Given the description of an element on the screen output the (x, y) to click on. 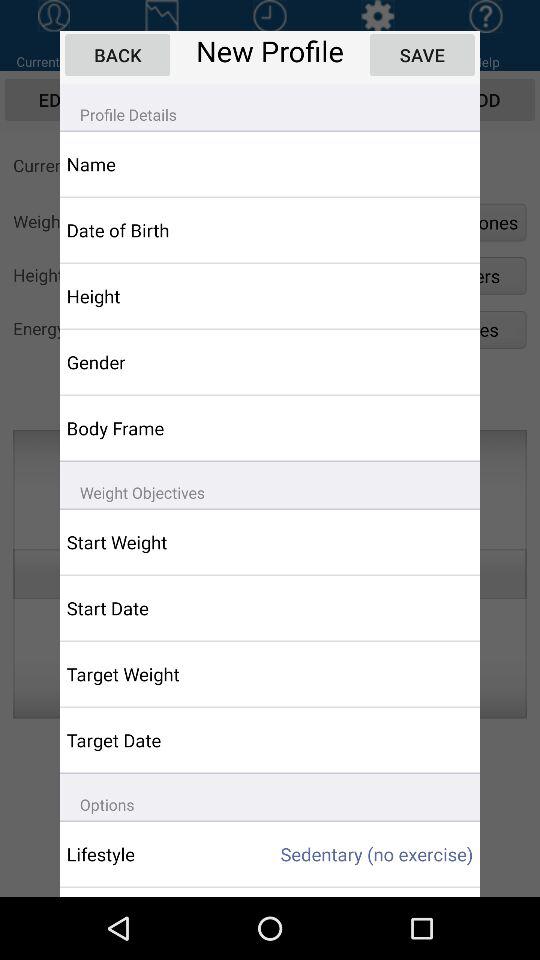
turn off icon above start weight icon (270, 484)
